Given the description of an element on the screen output the (x, y) to click on. 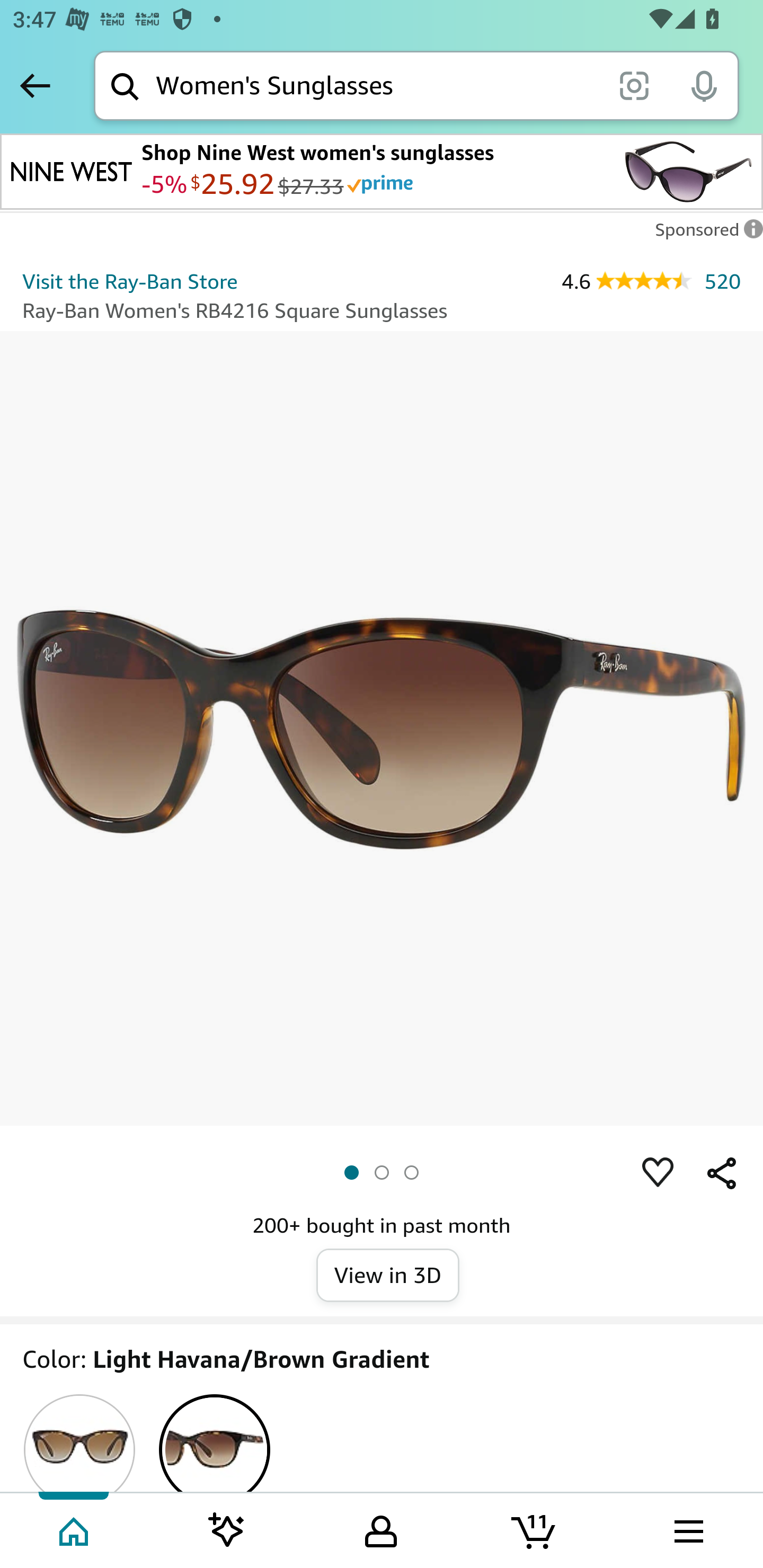
Back (35, 85)
scan it (633, 85)
Leave feedback on Sponsored ad Sponsored  (703, 234)
4.6 520 4.6  520 (650, 280)
Visit the Ray-Ban Store (130, 281)
Heart to save an item to your default list (657, 1173)
View in 3D (387, 1275)
Home Tab 1 of 5 (75, 1529)
Inspire feed Tab 2 of 5 (227, 1529)
Your Amazon.com Tab 3 of 5 (380, 1529)
Cart 11 items Tab 4 of 5 11 (534, 1529)
Browse menu Tab 5 of 5 (687, 1529)
